Given the description of an element on the screen output the (x, y) to click on. 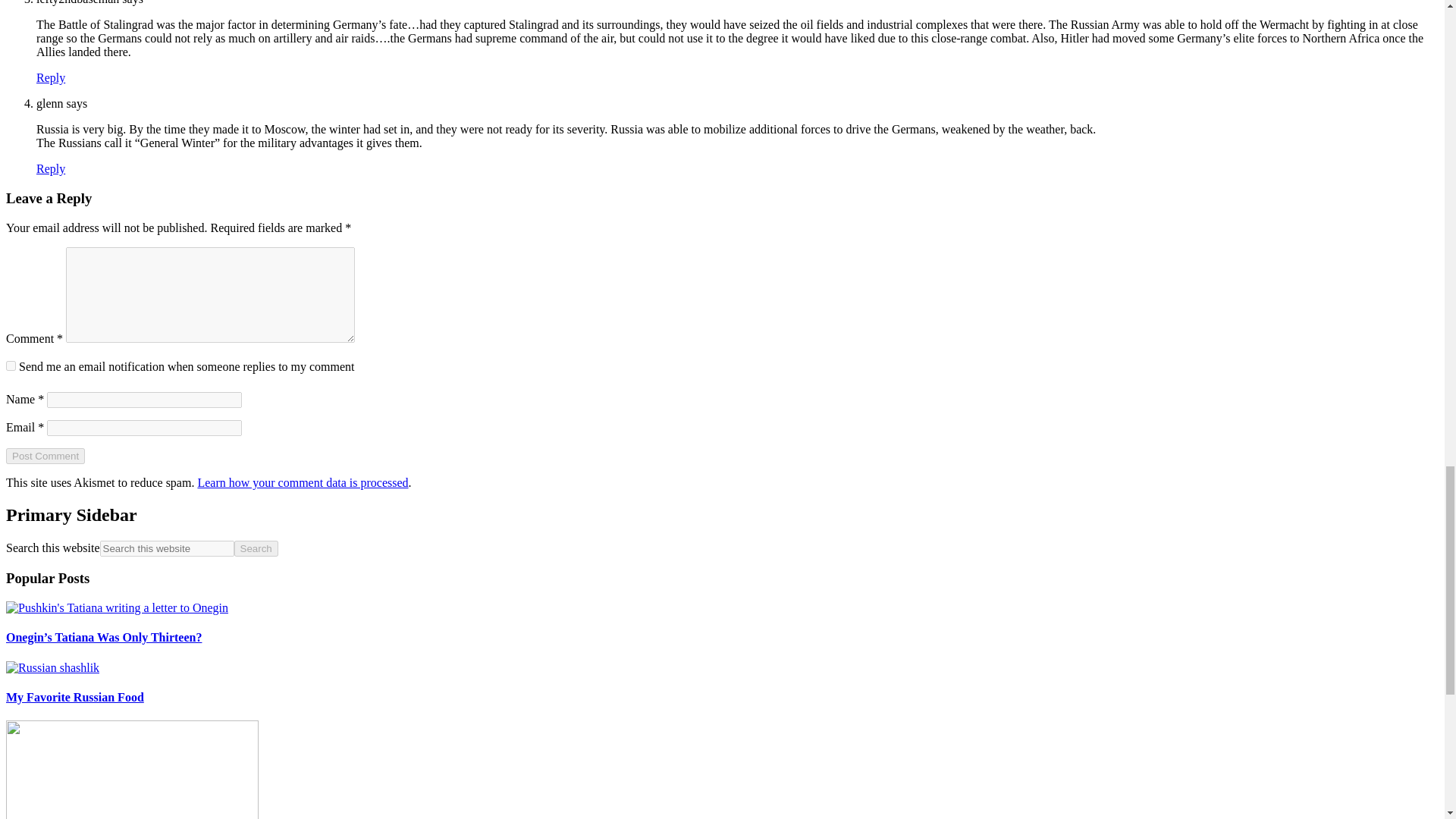
Learn how your comment data is processed (301, 481)
Reply (50, 77)
Post Comment (44, 455)
My Favorite Russian Food (74, 697)
Search (256, 548)
Search (256, 548)
Post Comment (44, 455)
Reply (50, 168)
Search (256, 548)
1 (10, 366)
